Given the description of an element on the screen output the (x, y) to click on. 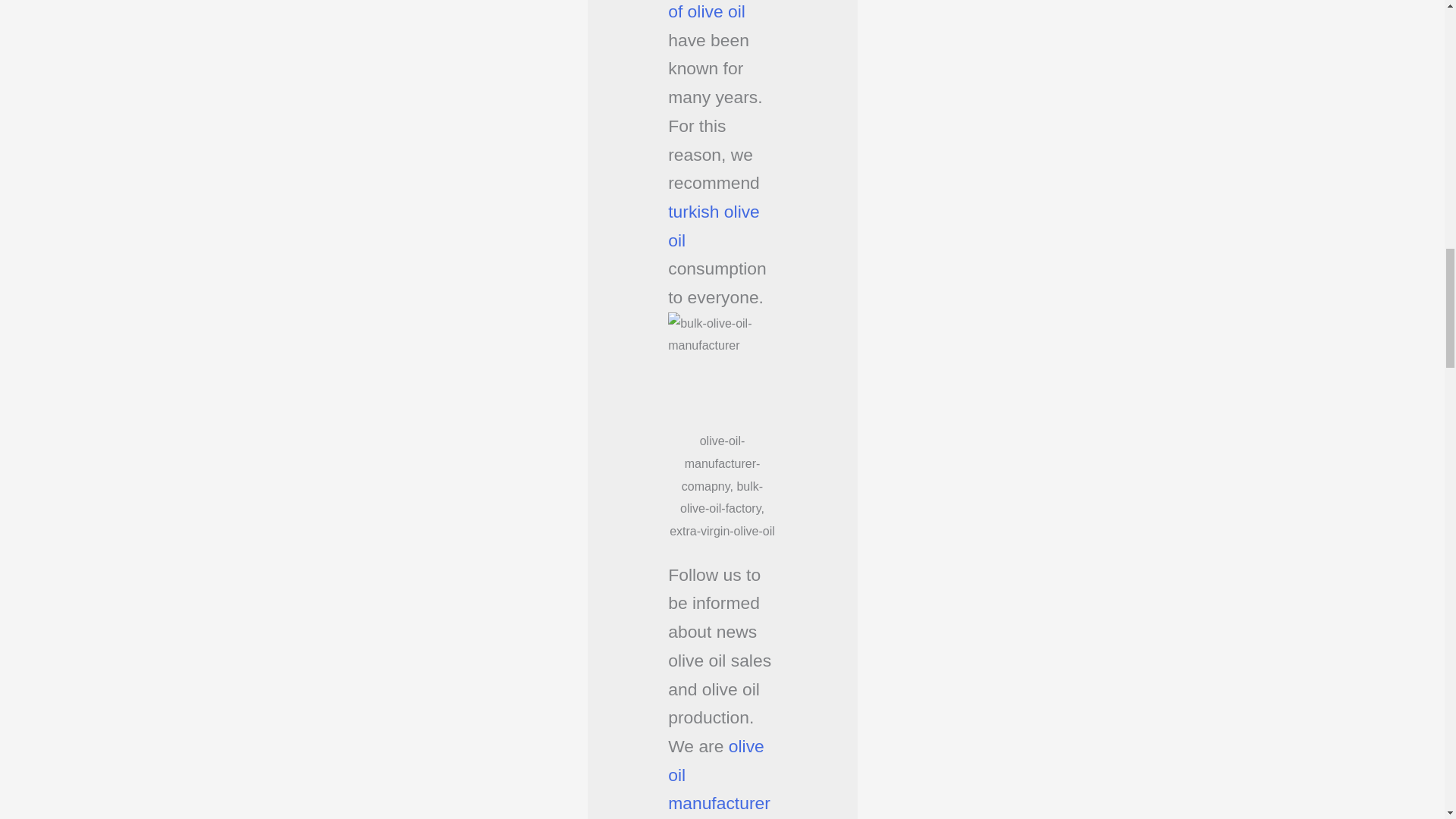
turkish olive oil (714, 225)
benefits of olive oil (715, 10)
olive oil manufacturer (719, 774)
